Given the description of an element on the screen output the (x, y) to click on. 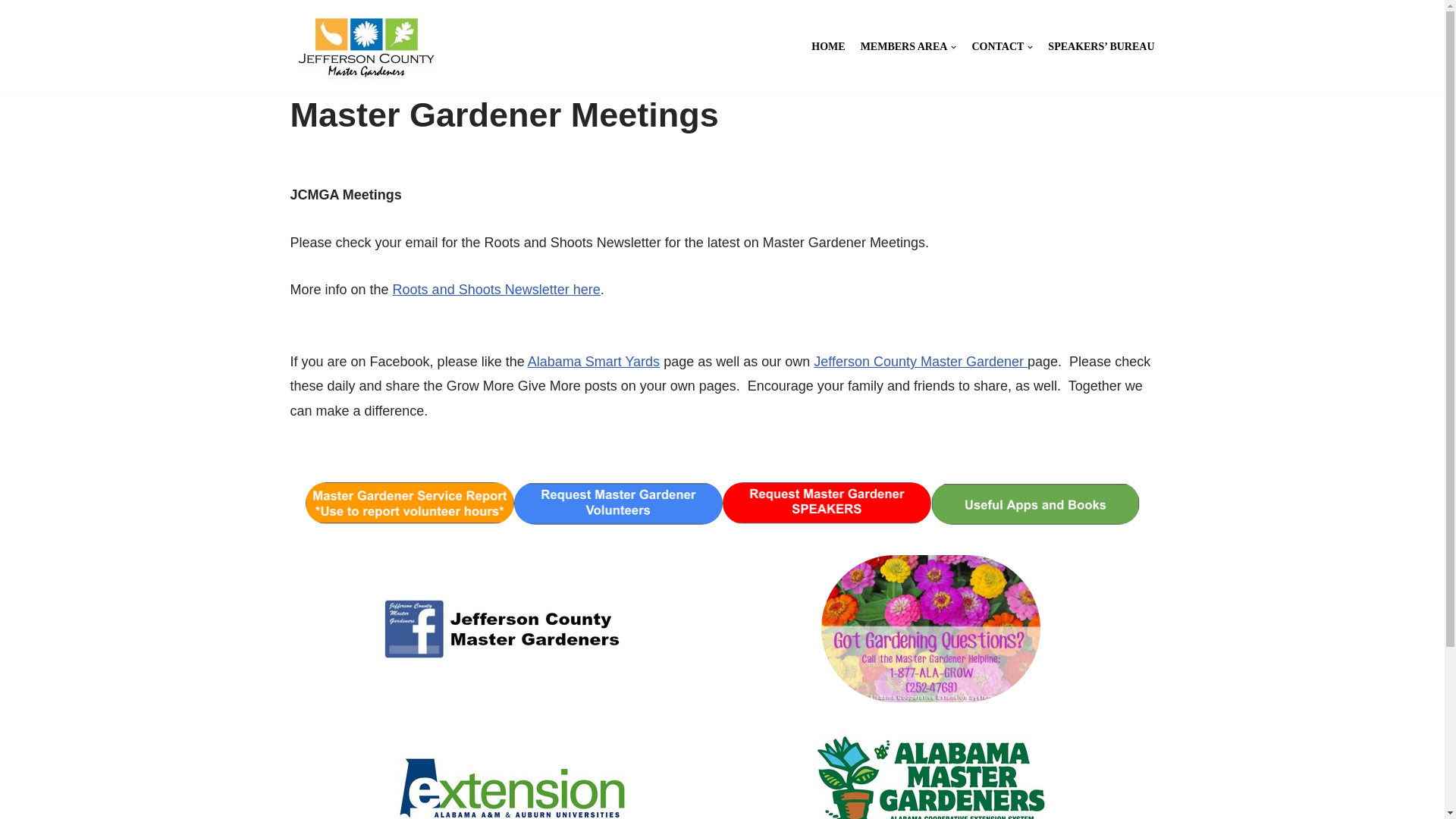
HOME (827, 46)
MEMBERS AREA (908, 46)
Skip to content (11, 31)
Jefferson County Master Gardeners (365, 47)
CONTACT (1001, 46)
